Given the description of an element on the screen output the (x, y) to click on. 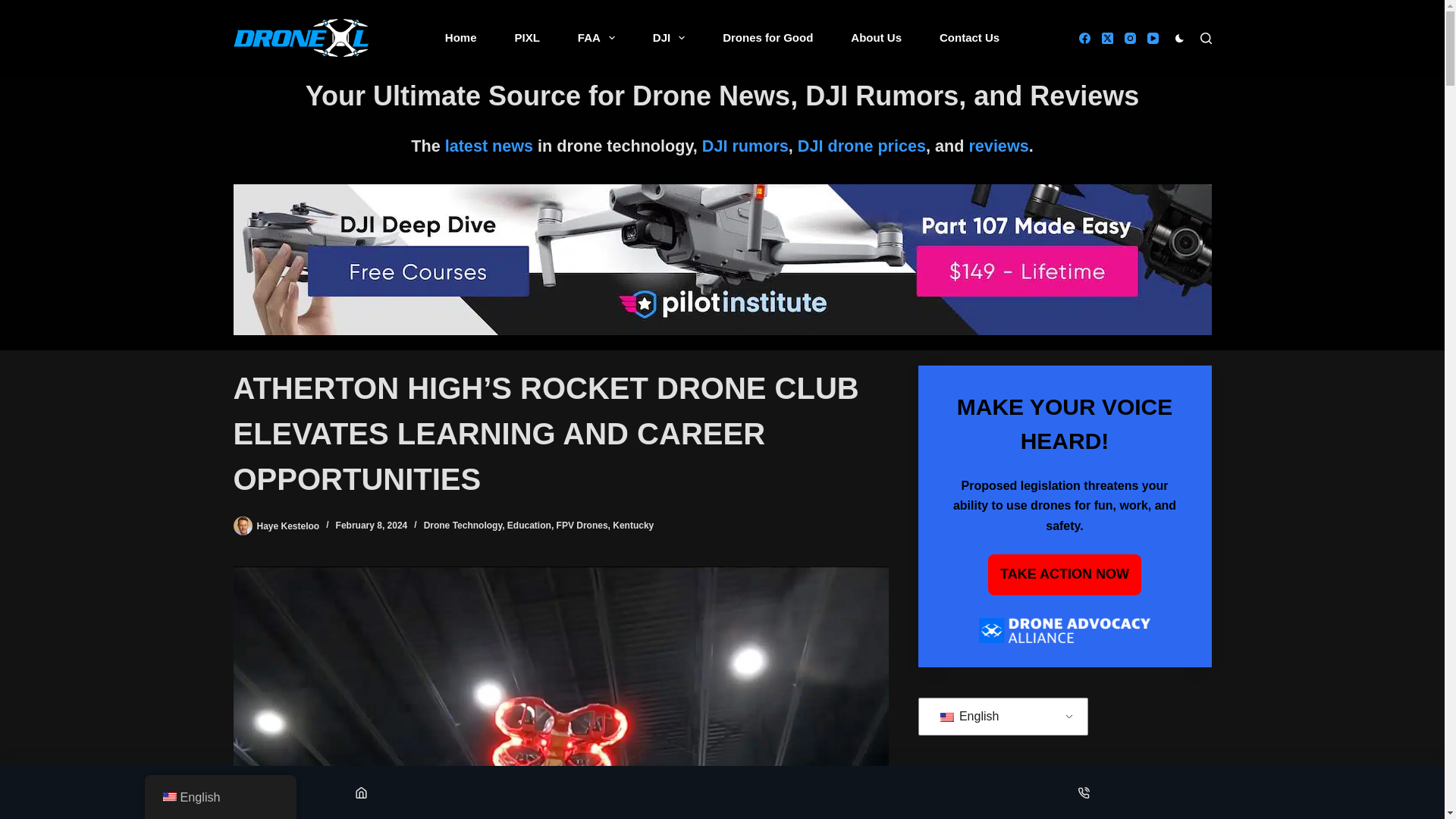
DJI rumors (745, 145)
PIXL (526, 37)
Drones for Good (767, 37)
DJI (668, 37)
Contact Us (968, 37)
Posts by Haye Kesteloo (287, 525)
latest news (488, 145)
FAA (596, 37)
Skip to content (15, 7)
reviews (997, 145)
DJI drone prices (861, 145)
Home (461, 37)
About Us (875, 37)
